Given the description of an element on the screen output the (x, y) to click on. 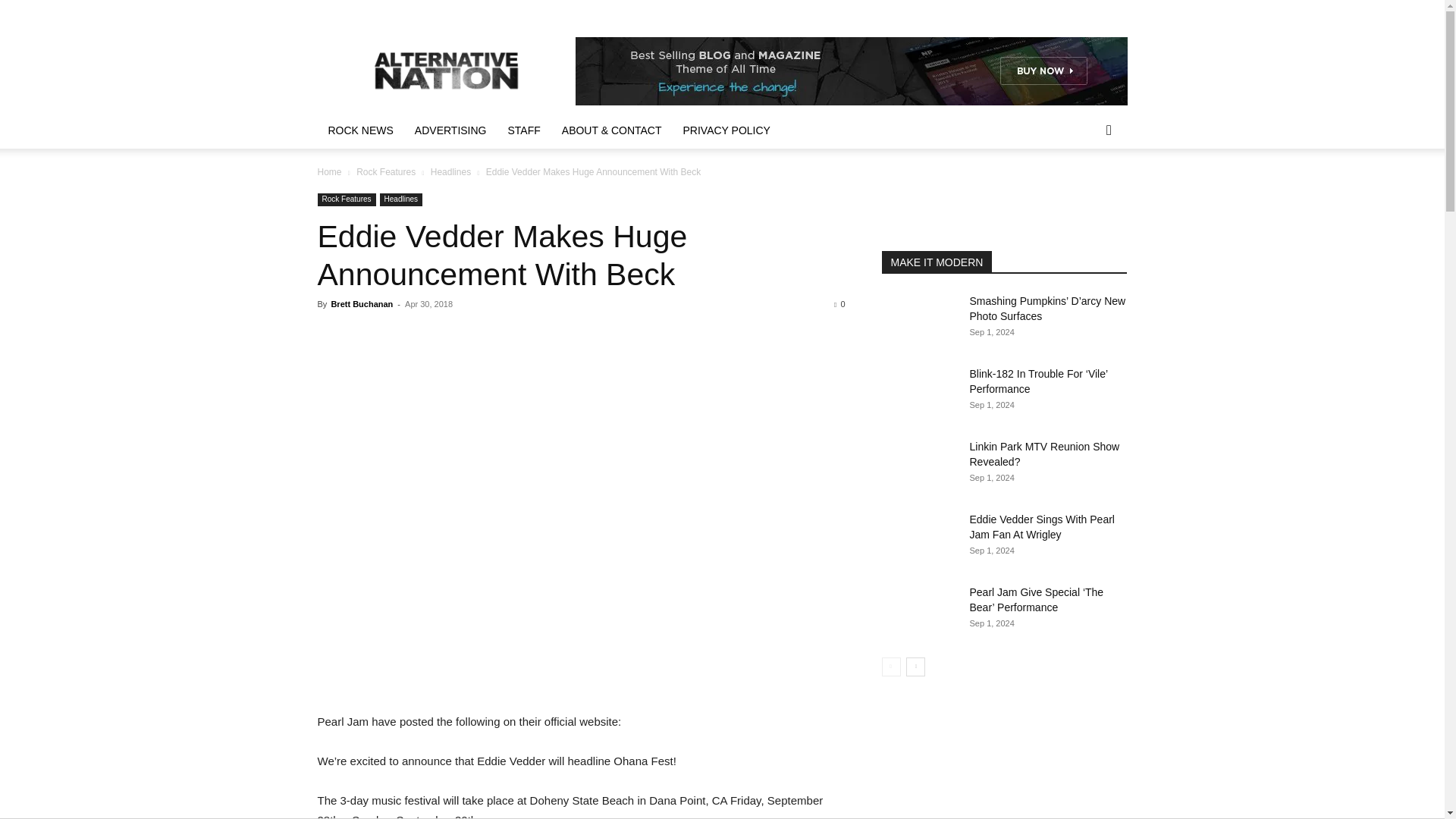
View all posts in Rock Features (385, 172)
Home (328, 172)
0 (839, 303)
STAFF (524, 130)
View all posts in Headlines (450, 172)
ADVERTISING (450, 130)
Headlines (401, 199)
Brett Buchanan (361, 303)
Rock Features (385, 172)
